Given the description of an element on the screen output the (x, y) to click on. 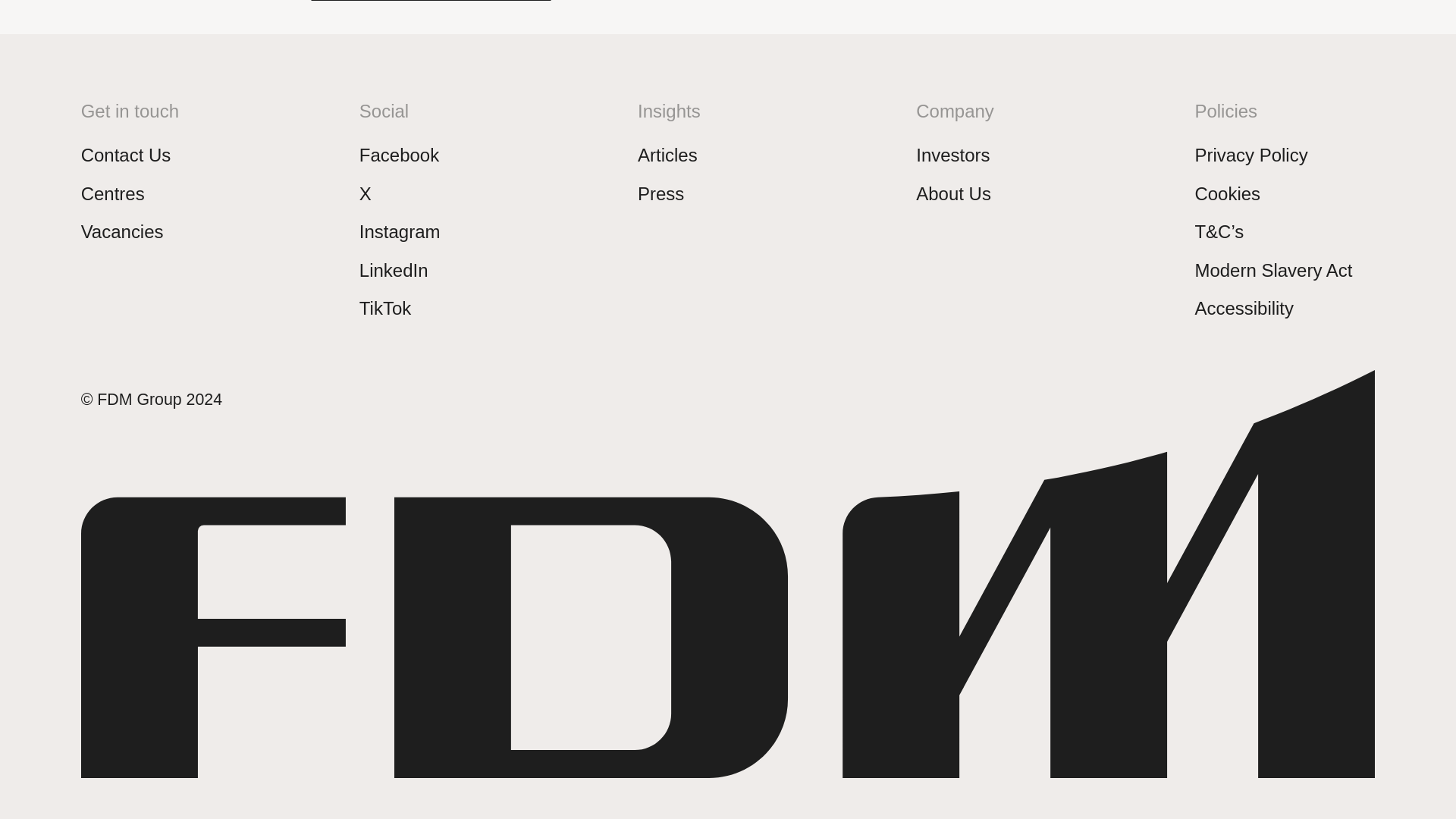
Facebook (399, 154)
LinkedIn (393, 270)
Contact Us (126, 154)
Centres (112, 193)
Instagram (400, 231)
Vacancies (122, 231)
